Given the description of an element on the screen output the (x, y) to click on. 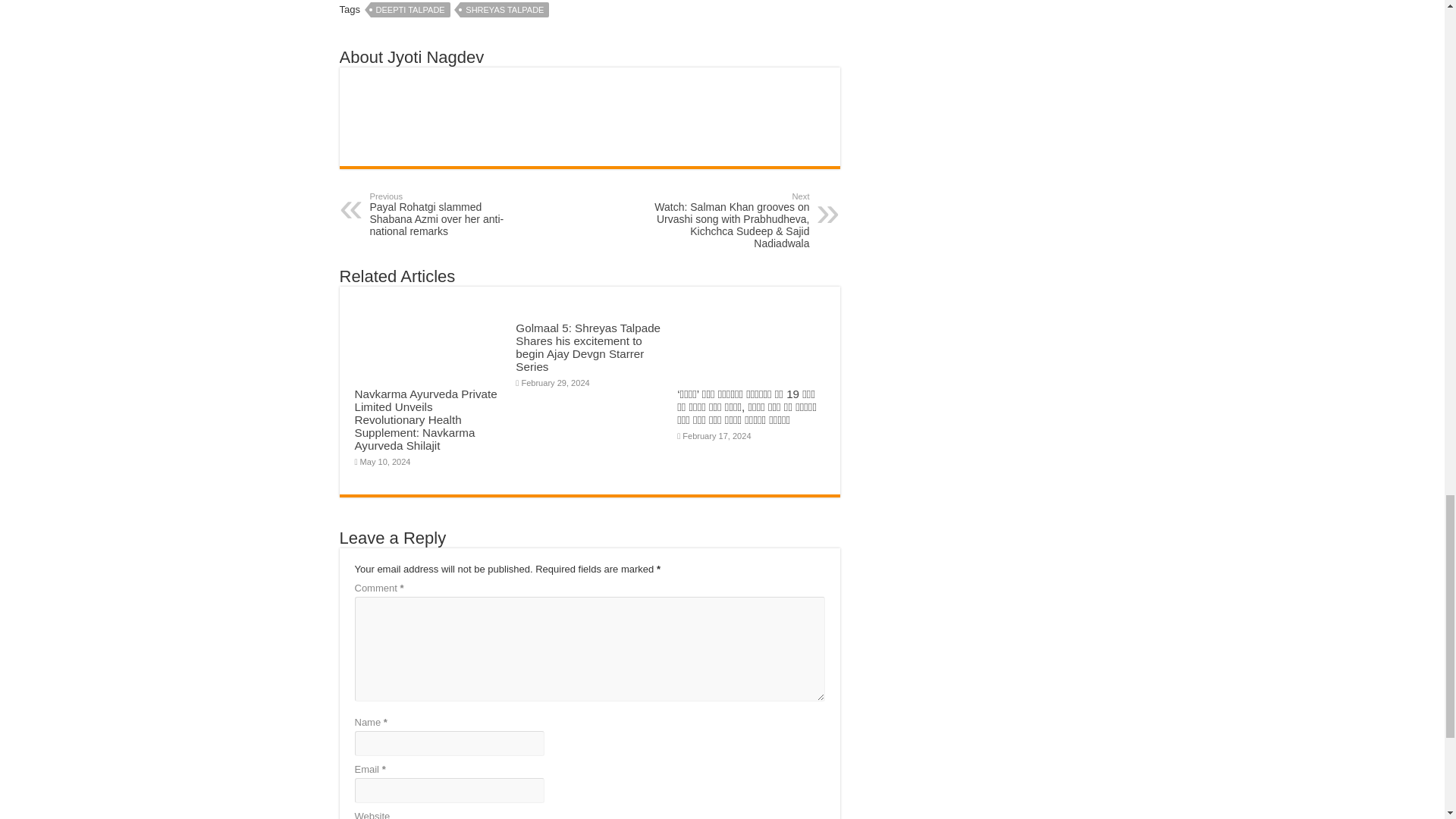
SHREYAS TALPADE (504, 9)
DEEPTI TALPADE (410, 9)
